Given the description of an element on the screen output the (x, y) to click on. 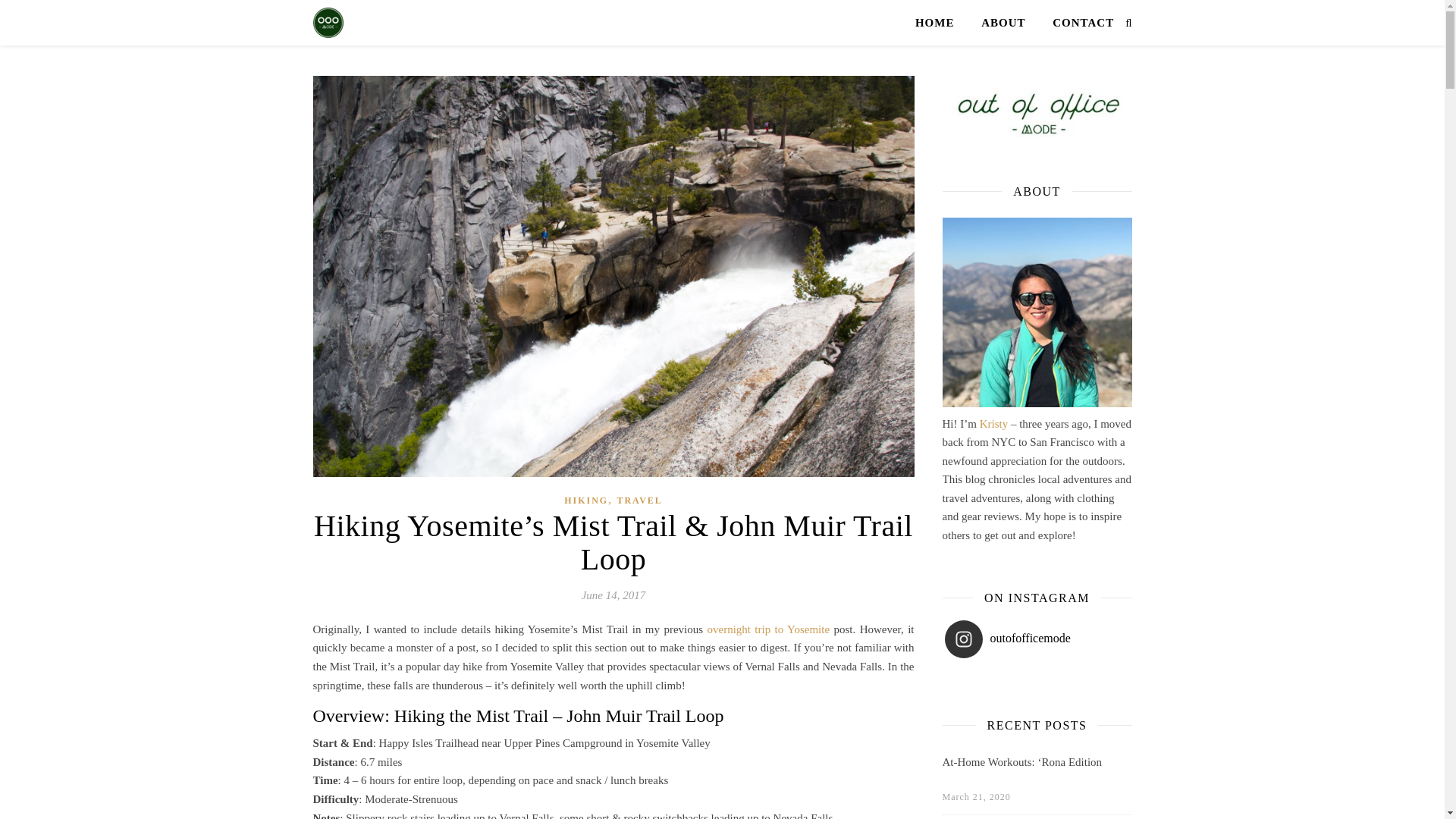
ABOUT (1002, 22)
Out of Office Mode (327, 22)
HIKING (586, 500)
CONTACT (1077, 22)
outofofficemode (1026, 638)
HOME (940, 22)
TRAVEL (638, 500)
overnight trip to Yosemite (767, 629)
Kristy (994, 422)
